Given the description of an element on the screen output the (x, y) to click on. 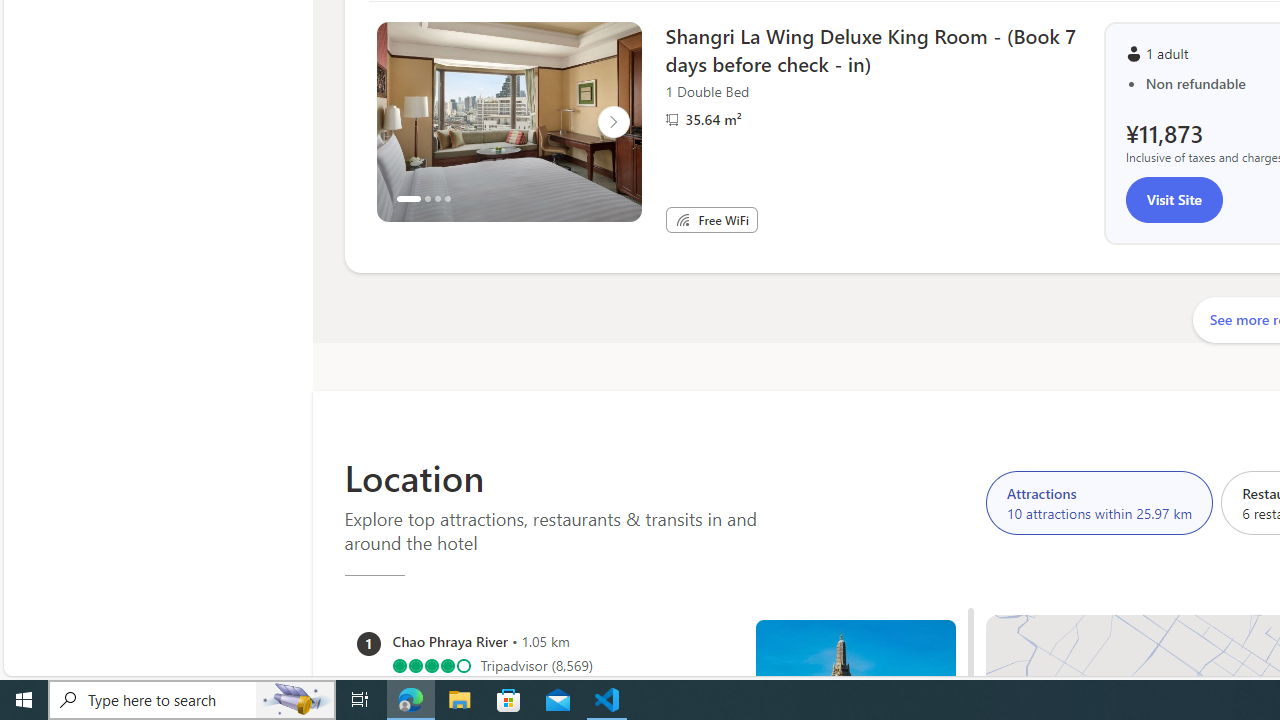
Free WiFi (682, 219)
Partner Image (671, 119)
Click to scroll right (612, 121)
Visit Site (1173, 200)
Attractions 10 attractions within 25.97 km (1099, 502)
